Given the description of an element on the screen output the (x, y) to click on. 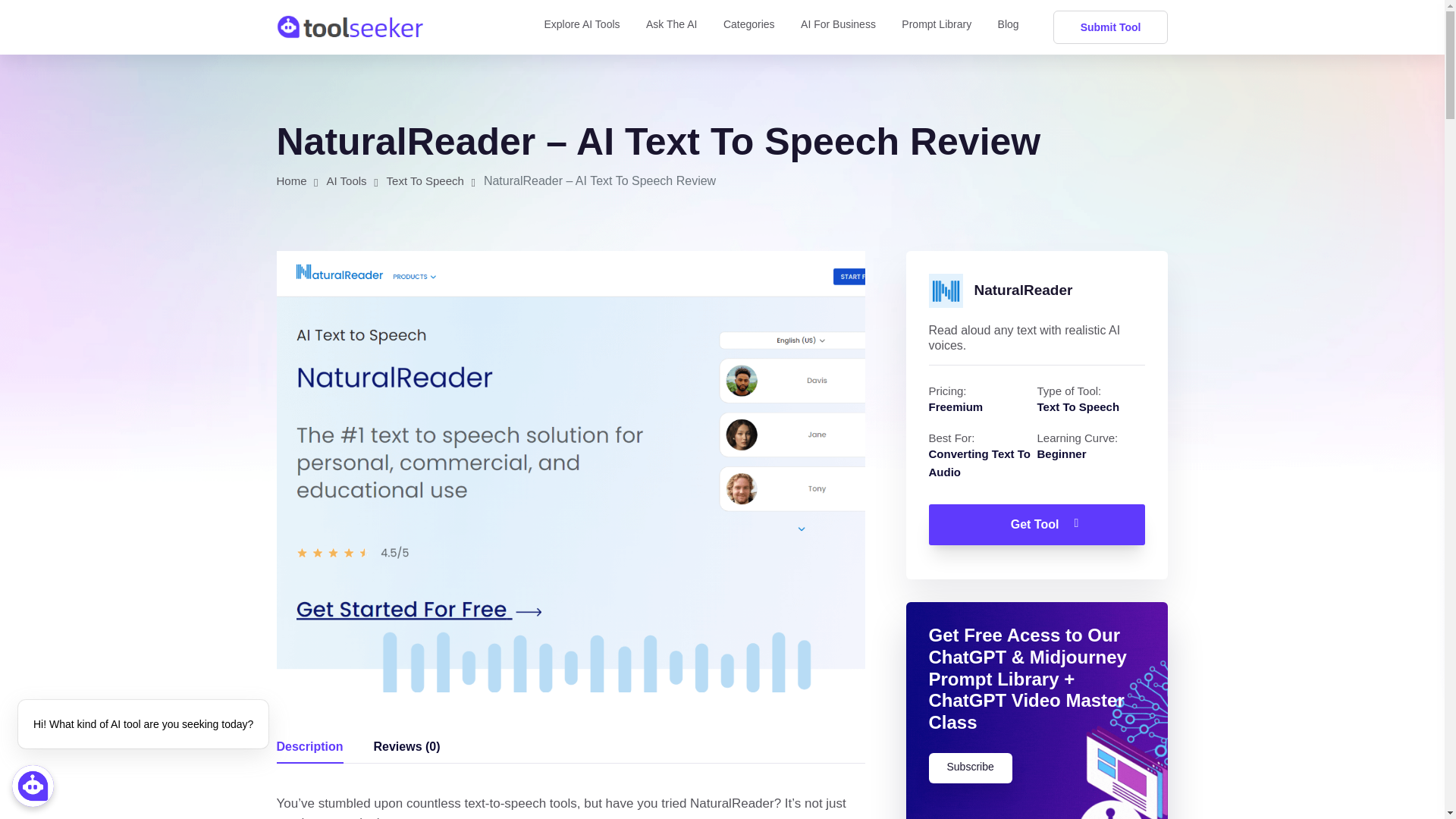
Ask The AI (671, 27)
Get Tool (1036, 524)
Subscribe (969, 767)
Explore AI Tools (581, 27)
Submit Tool (1110, 27)
AI For Business (838, 27)
Ask The AI (671, 27)
AI Tools (346, 180)
Prompt Library (936, 27)
Categories (748, 27)
Prompt Library (936, 27)
AI For Business (838, 27)
Categories (748, 27)
Home (290, 180)
Description (309, 746)
